Given the description of an element on the screen output the (x, y) to click on. 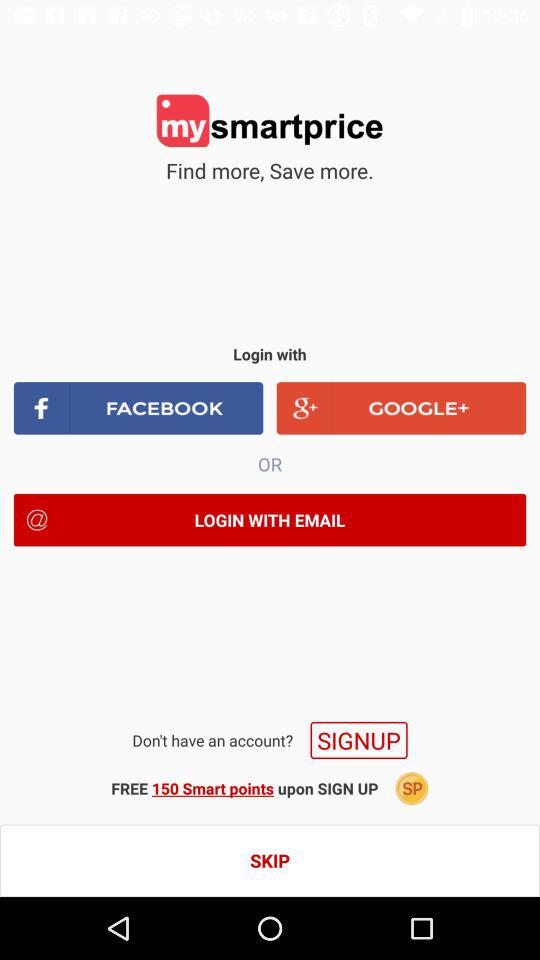
turn on the item at the bottom right corner (411, 788)
